Given the description of an element on the screen output the (x, y) to click on. 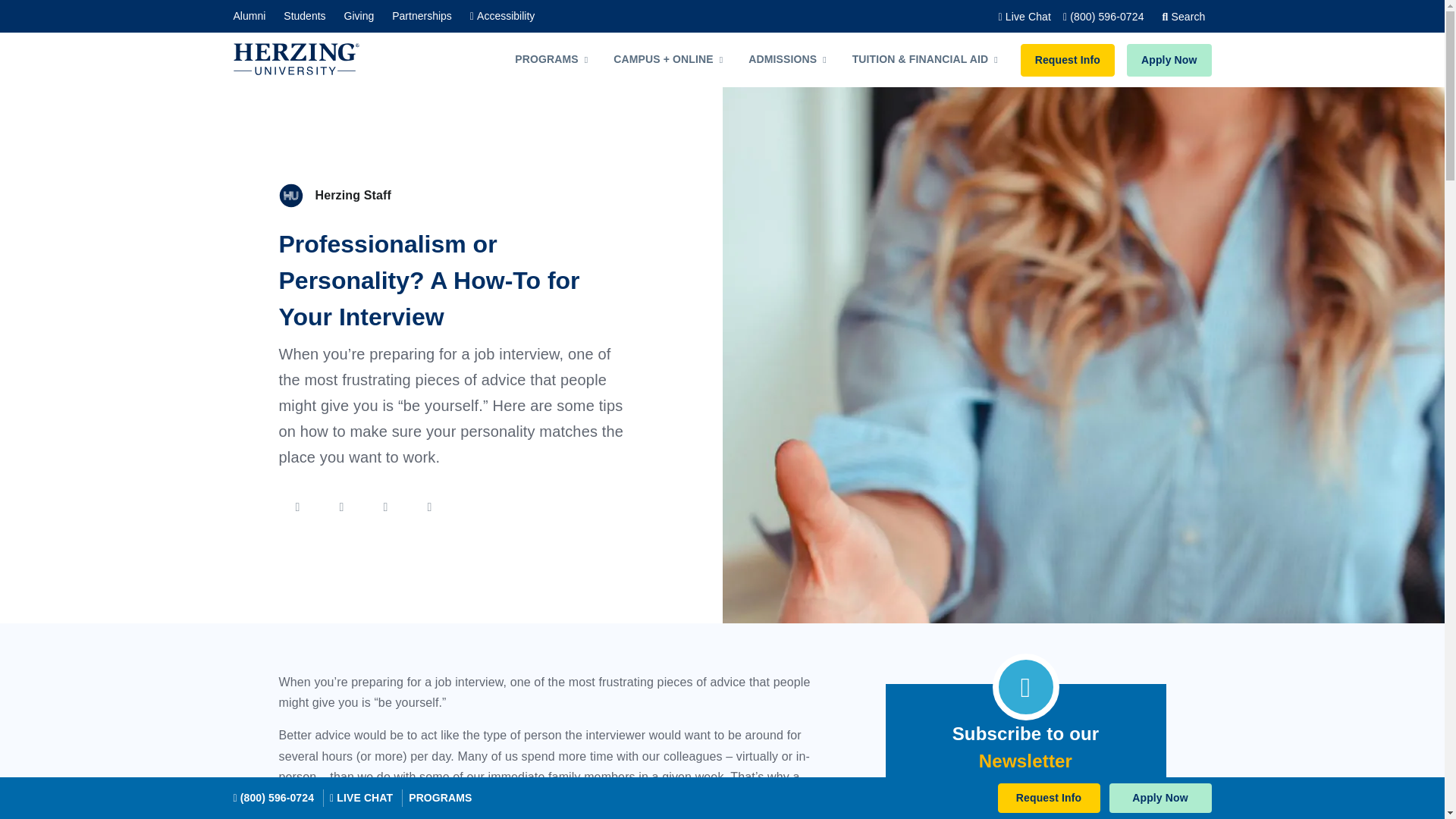
Alumni (252, 16)
Giving (355, 16)
Partnerships (419, 16)
Search (1183, 16)
Live Chat (1024, 16)
Students (300, 16)
Accessibility (499, 16)
PROGRAMS (559, 59)
